Given the description of an element on the screen output the (x, y) to click on. 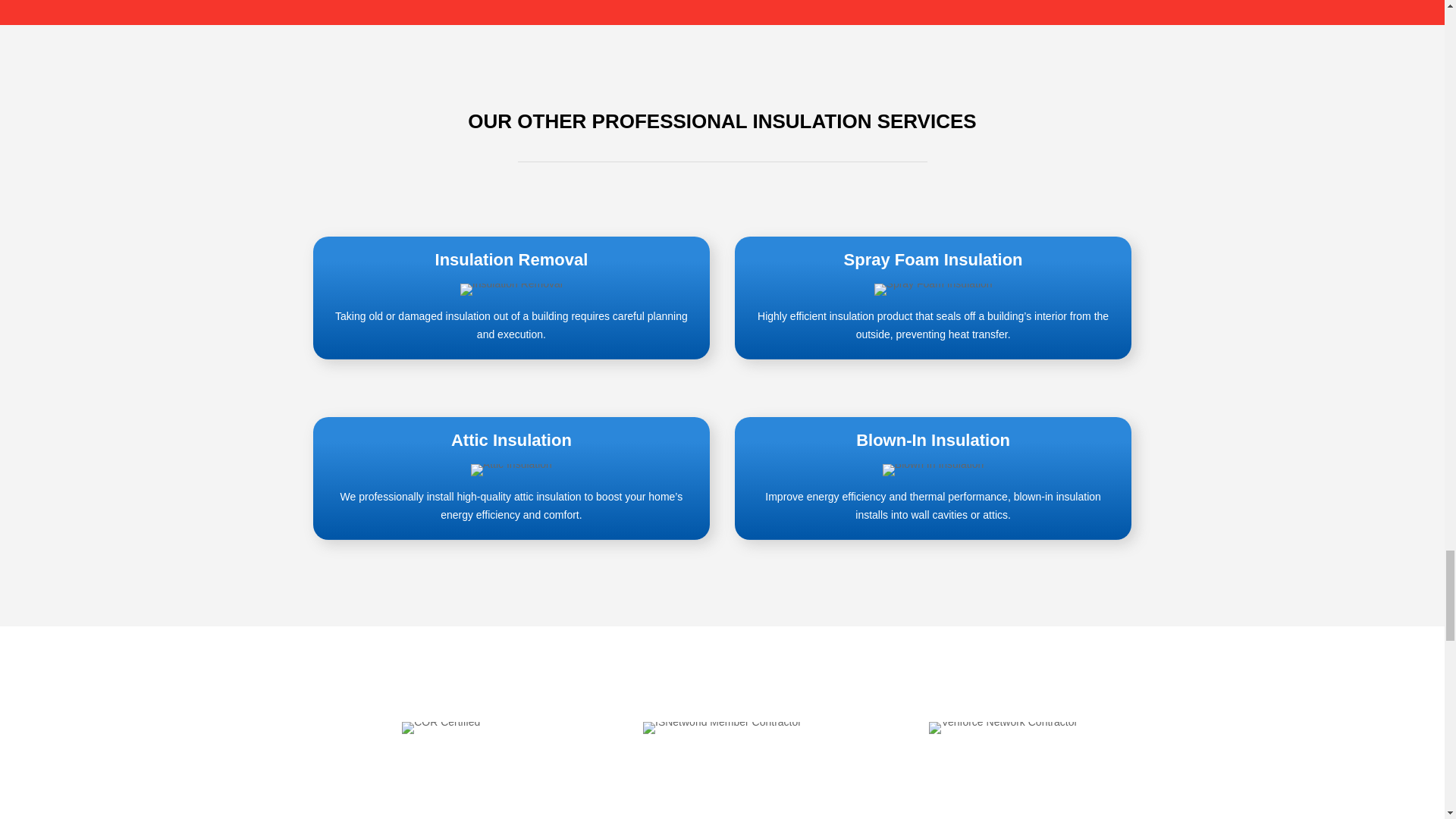
spray-foam-insulation (933, 289)
attic-insulation (510, 469)
insulation-removal (511, 289)
blown-in-insulation (933, 469)
cor-certified (440, 727)
